Given the description of an element on the screen output the (x, y) to click on. 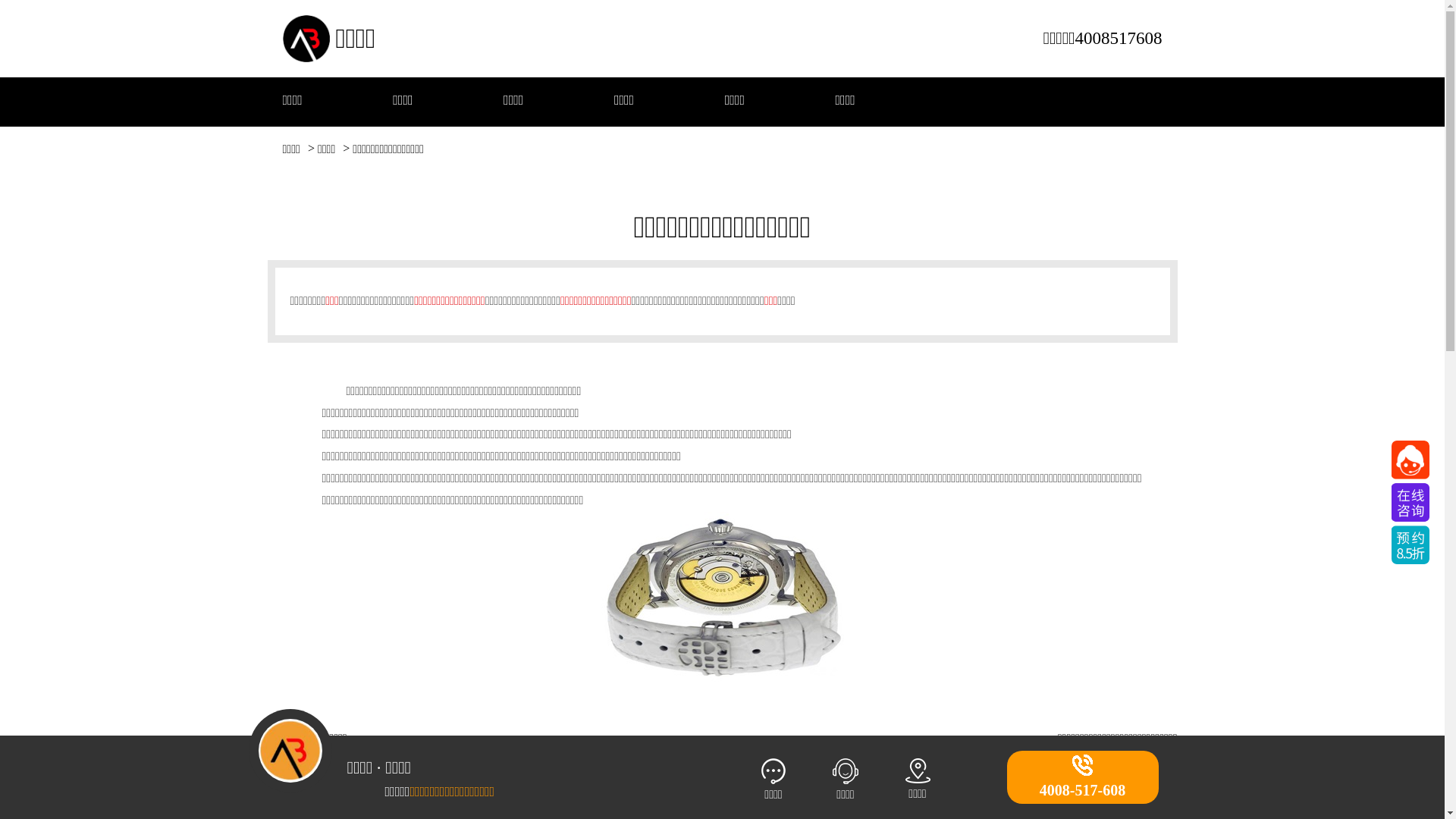
4008-517-608 Element type: text (1082, 777)
